Given the description of an element on the screen output the (x, y) to click on. 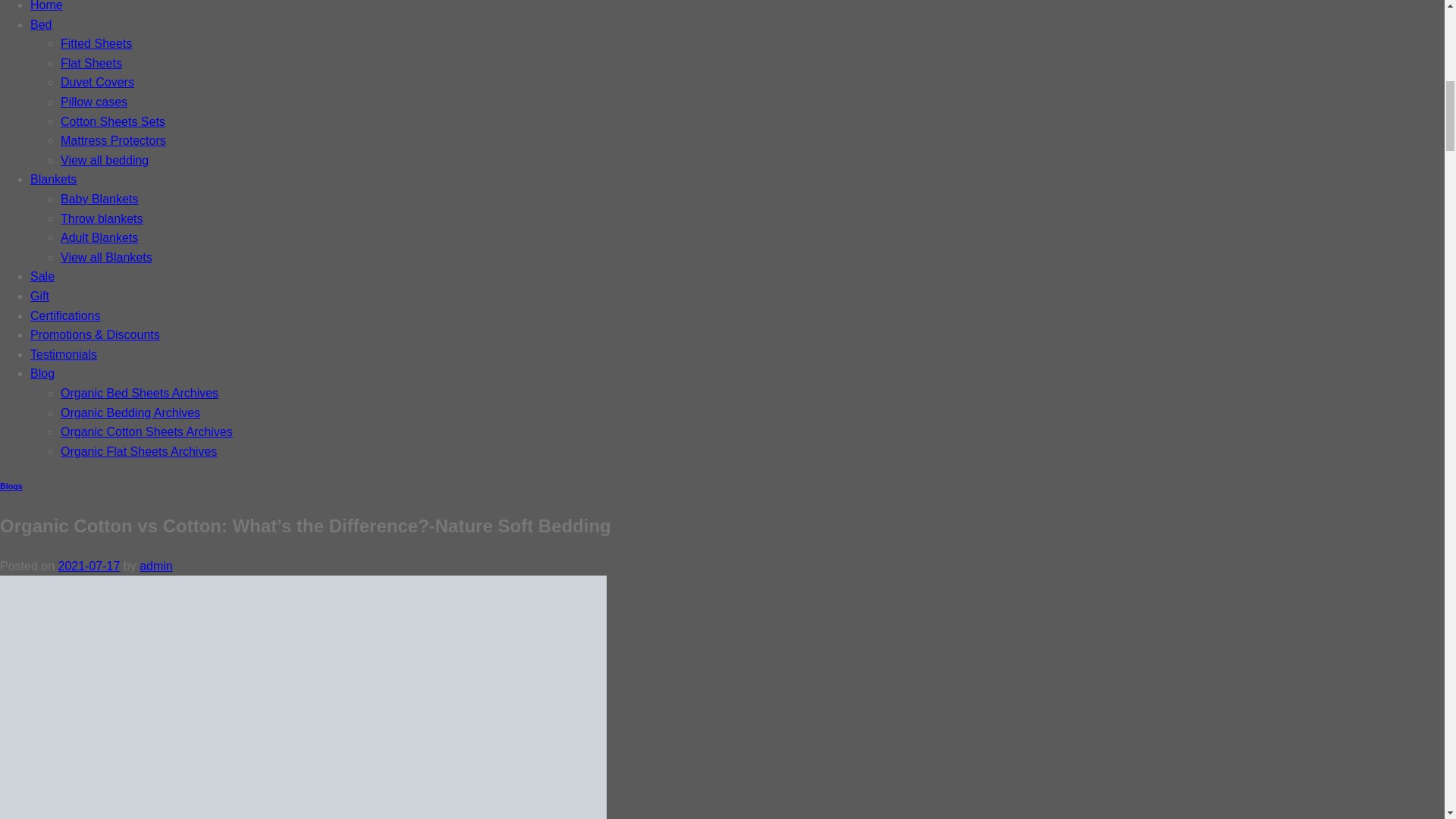
Cotton Sheets Sets (113, 121)
Testimonials (63, 354)
View all bedding (104, 160)
Pillow cases (94, 101)
Certifications (65, 315)
Duvet Covers (97, 82)
Flat Sheets (91, 62)
Organic Cotton Sheets Archives (146, 431)
Blankets (53, 178)
Sale (42, 276)
